Given the description of an element on the screen output the (x, y) to click on. 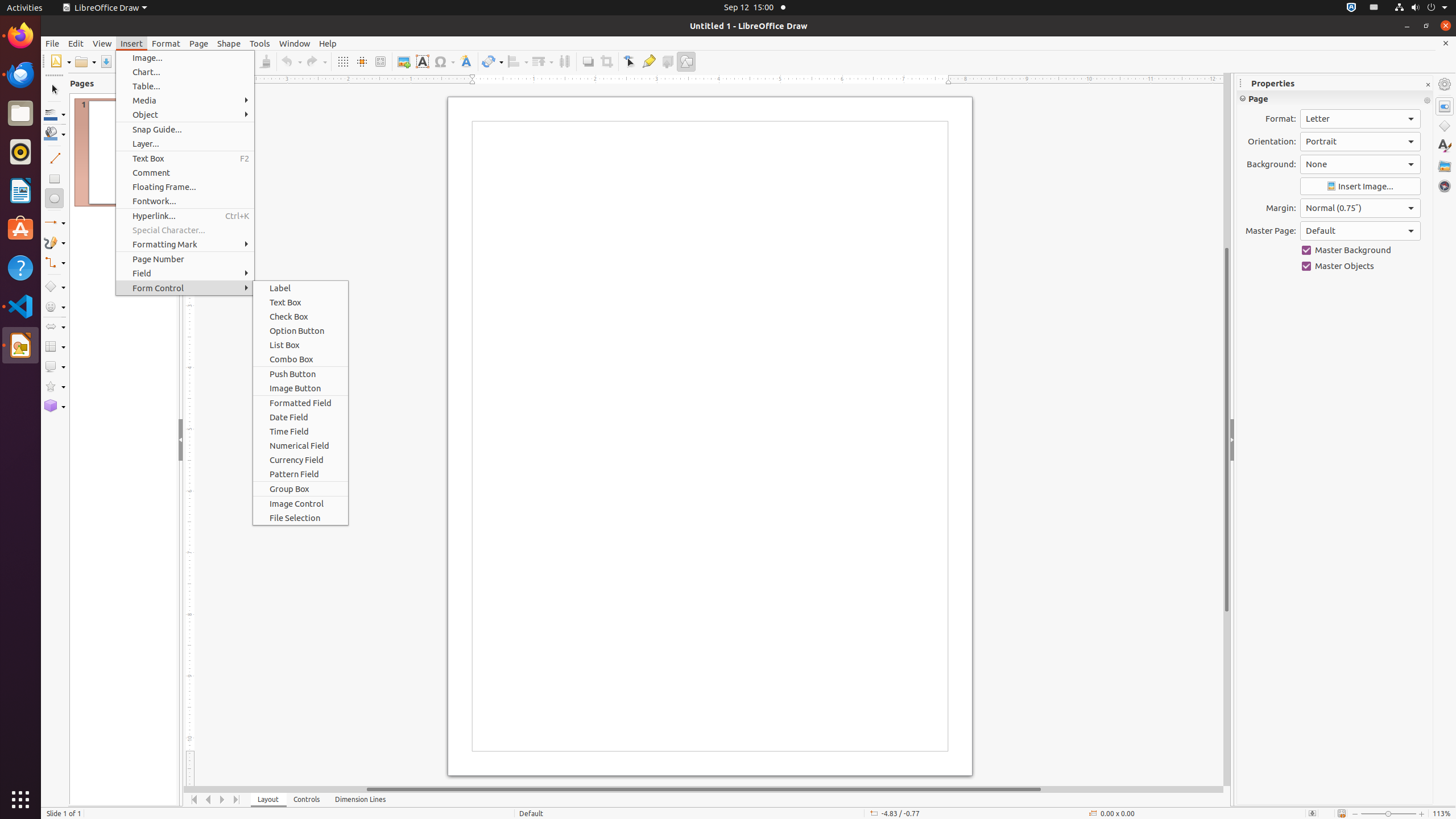
Image Button Element type: check-menu-item (300, 388)
